Given the description of an element on the screen output the (x, y) to click on. 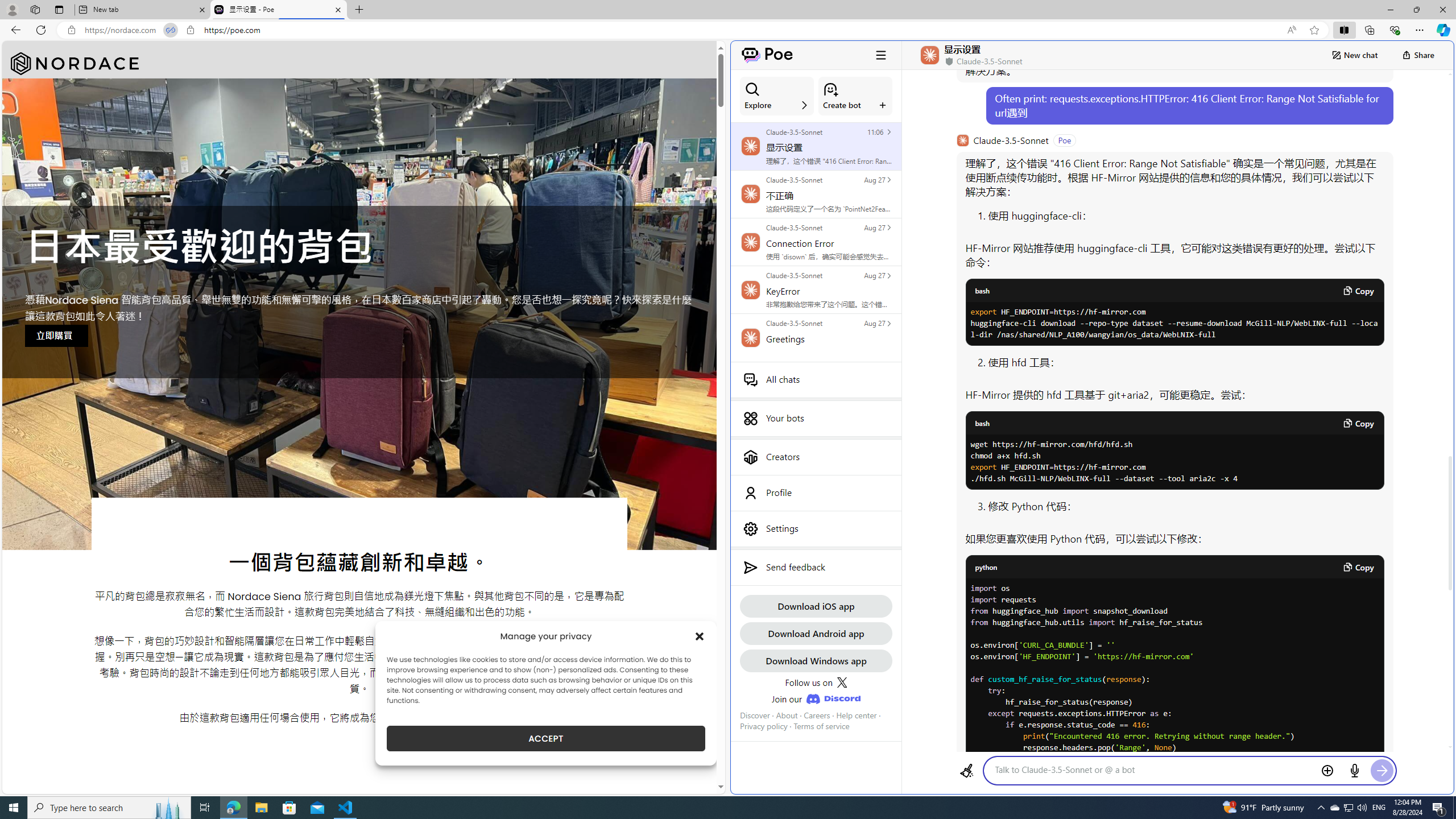
All chats (815, 379)
Follow us on (815, 682)
Copy (1357, 566)
Class: cmplz-close (699, 636)
About (786, 714)
Class: ToggleSidebarCollapseButton_hamburgerIcon__VuiyV (880, 55)
Tabs in split screen (170, 29)
